Given the description of an element on the screen output the (x, y) to click on. 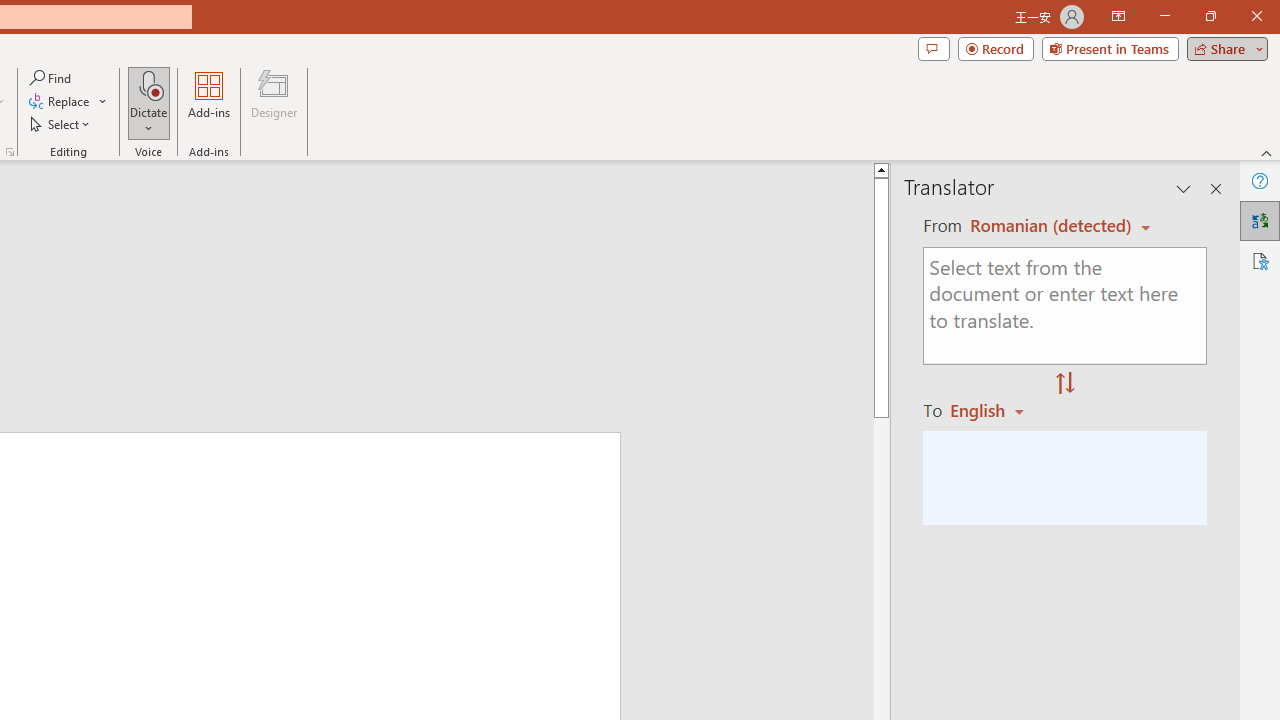
Romanian (994, 409)
